Given the description of an element on the screen output the (x, y) to click on. 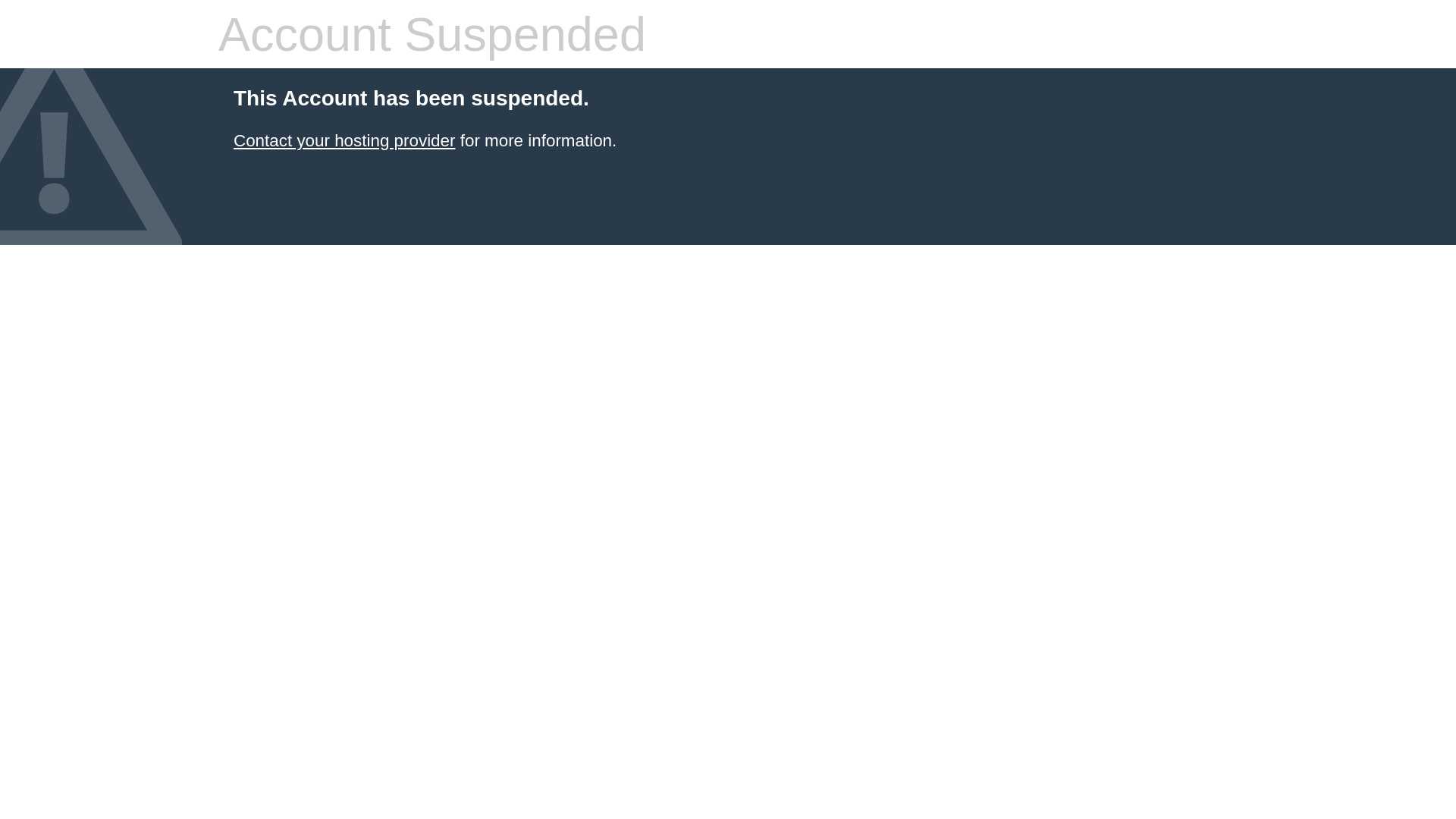
Contact your hosting provider Element type: text (344, 140)
